Given the description of an element on the screen output the (x, y) to click on. 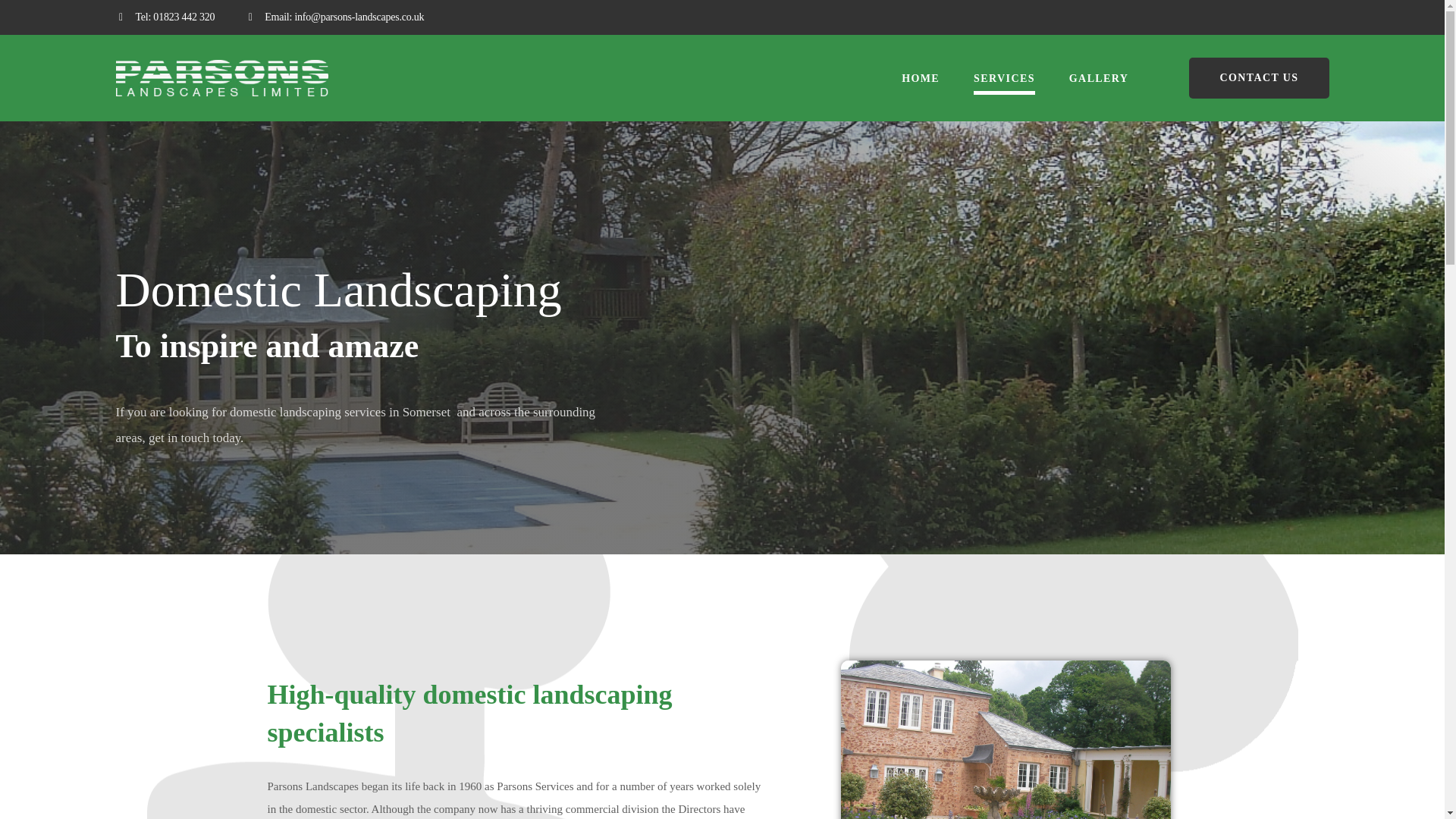
GALLERY (1098, 78)
Tel: 01823 442 320 (174, 16)
HOME (920, 78)
SERVICES (1004, 78)
